Given the description of an element on the screen output the (x, y) to click on. 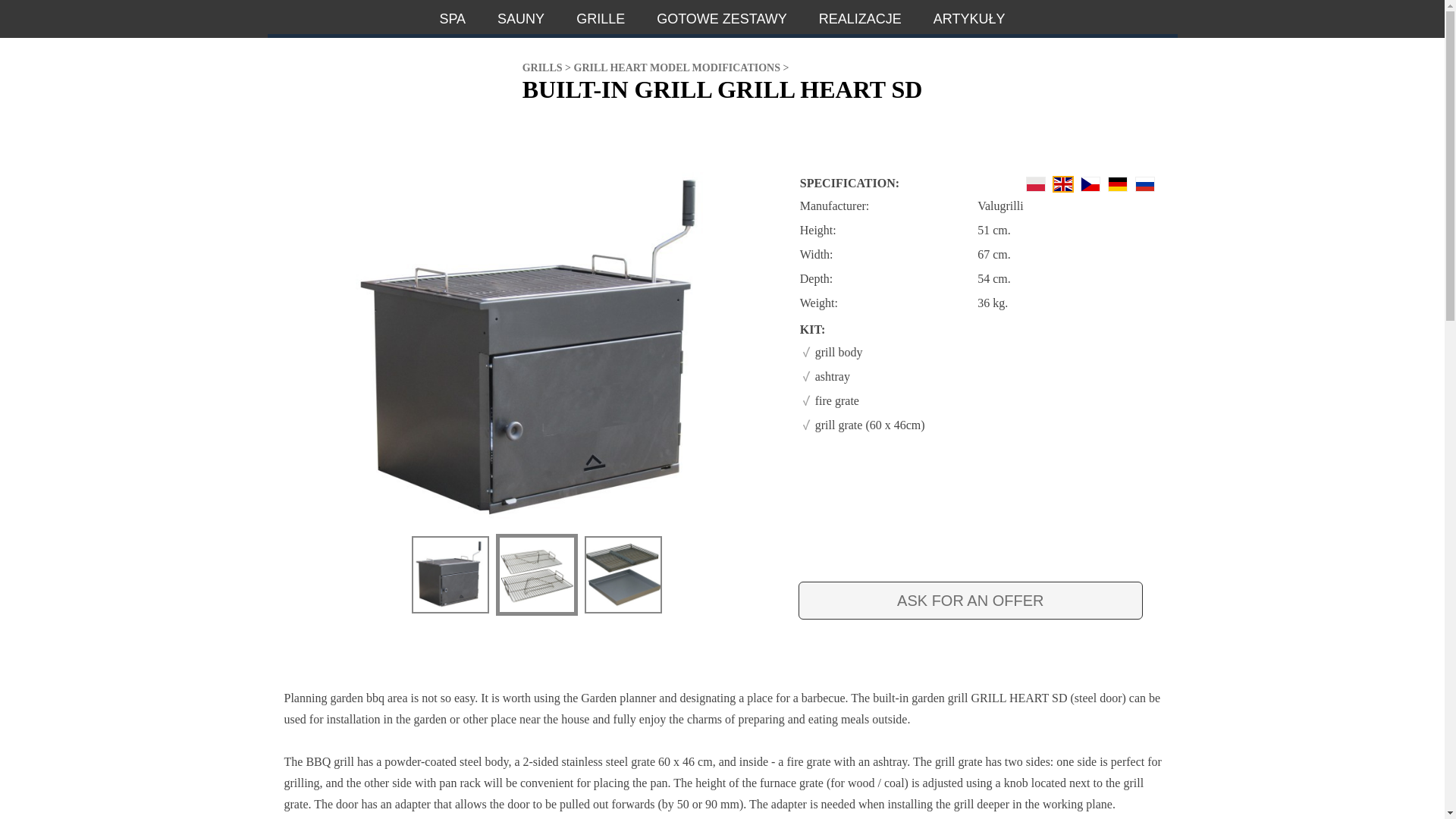
ASK FOR AN OFFER (969, 600)
Deutsch (1117, 183)
REALIZACJE (860, 17)
SAUNY (520, 17)
GRILLE (600, 17)
GOTOWE ZESTAWY (721, 17)
GRILL HEART MODEL MODIFICATIONS (676, 67)
GRILLS (542, 67)
Polski (1035, 183)
English (1063, 183)
